Given the description of an element on the screen output the (x, y) to click on. 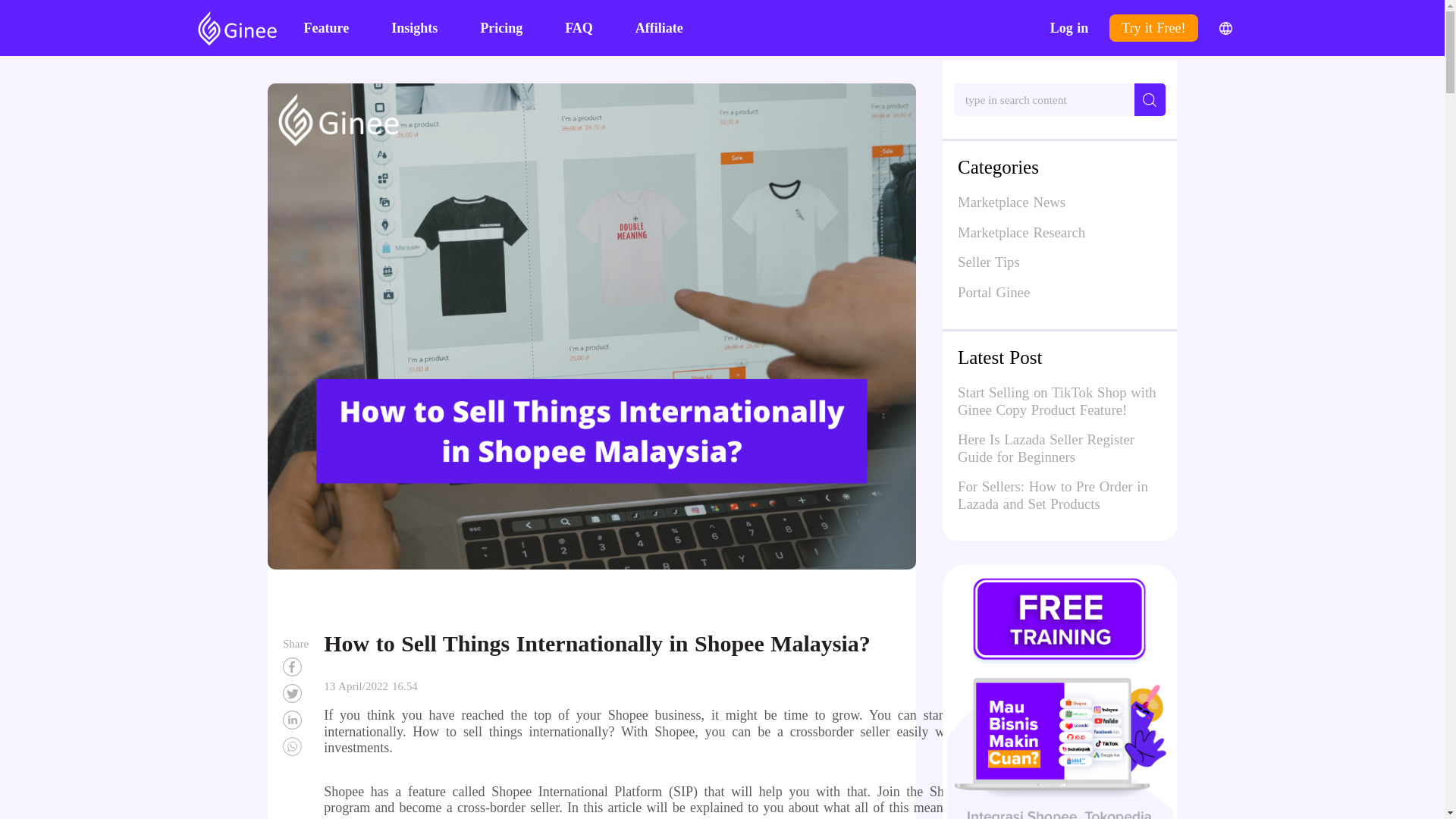
Marketplace News (1059, 202)
How to Sell Things Internationally in Shopee Malaysia? (295, 692)
Here Is Lazada Seller Register Guide for Beginners (1046, 450)
Seller Tips (1059, 262)
Portal Ginee (1059, 292)
Marketplace Research (1059, 232)
For Sellers: How to Pre Order in Lazada and Set Products (1053, 497)
How to Sell Things Internationally in Shopee Malaysia? (295, 719)
How to Sell Things Internationally in Shopee Malaysia? (295, 746)
